Given the description of an element on the screen output the (x, y) to click on. 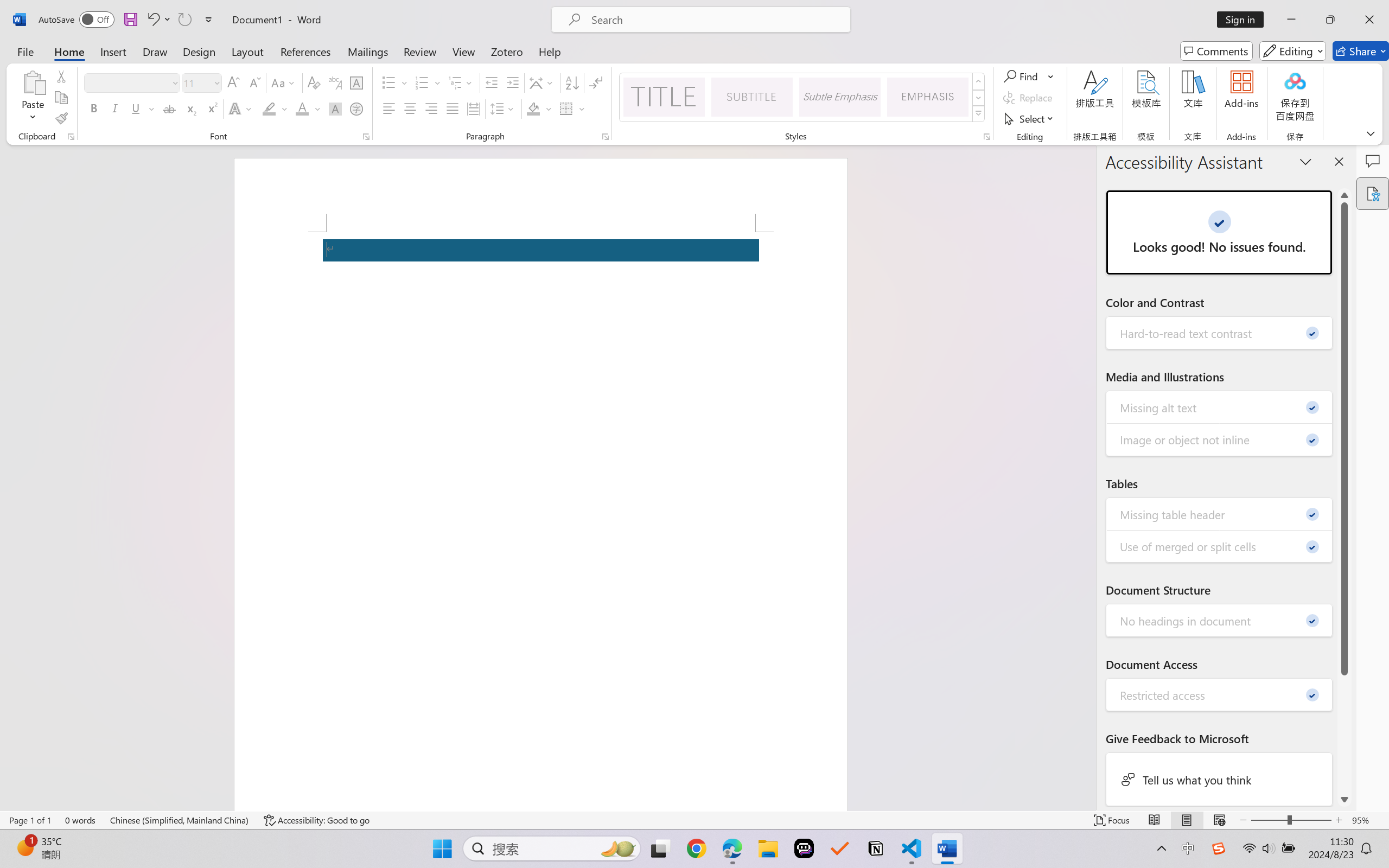
Undo Apply Quick Style Set (158, 19)
Font Color RGB(255, 0, 0) (302, 108)
Title (663, 96)
Use of merged or split cells - 0 (1219, 546)
